Given the description of an element on the screen output the (x, y) to click on. 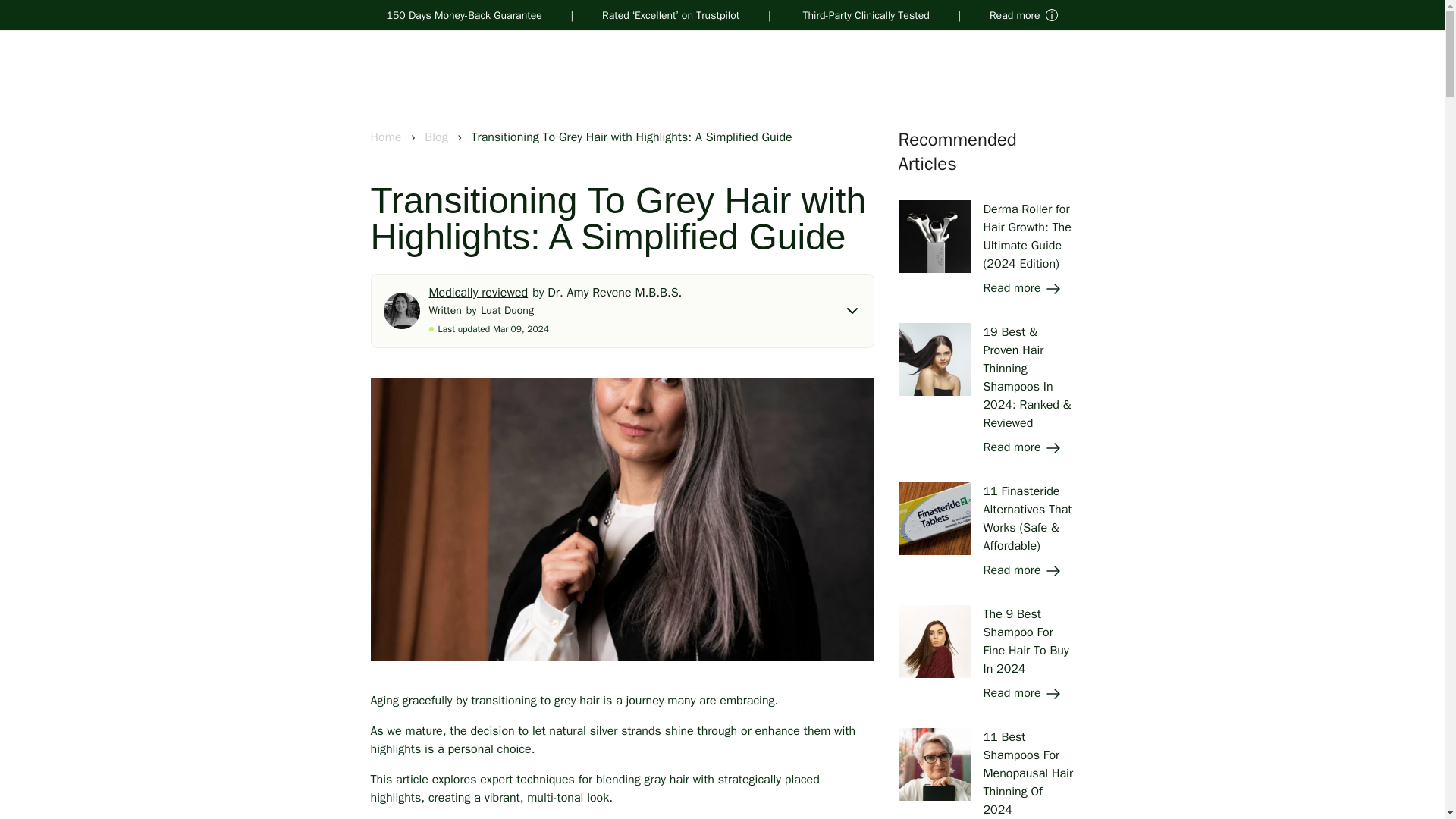
Read more (1022, 288)
Medically reviewed (480, 292)
Home (386, 136)
Written (447, 309)
Read more (1022, 570)
Read more (1022, 692)
Read more (1022, 447)
Blog (438, 136)
